Given the description of an element on the screen output the (x, y) to click on. 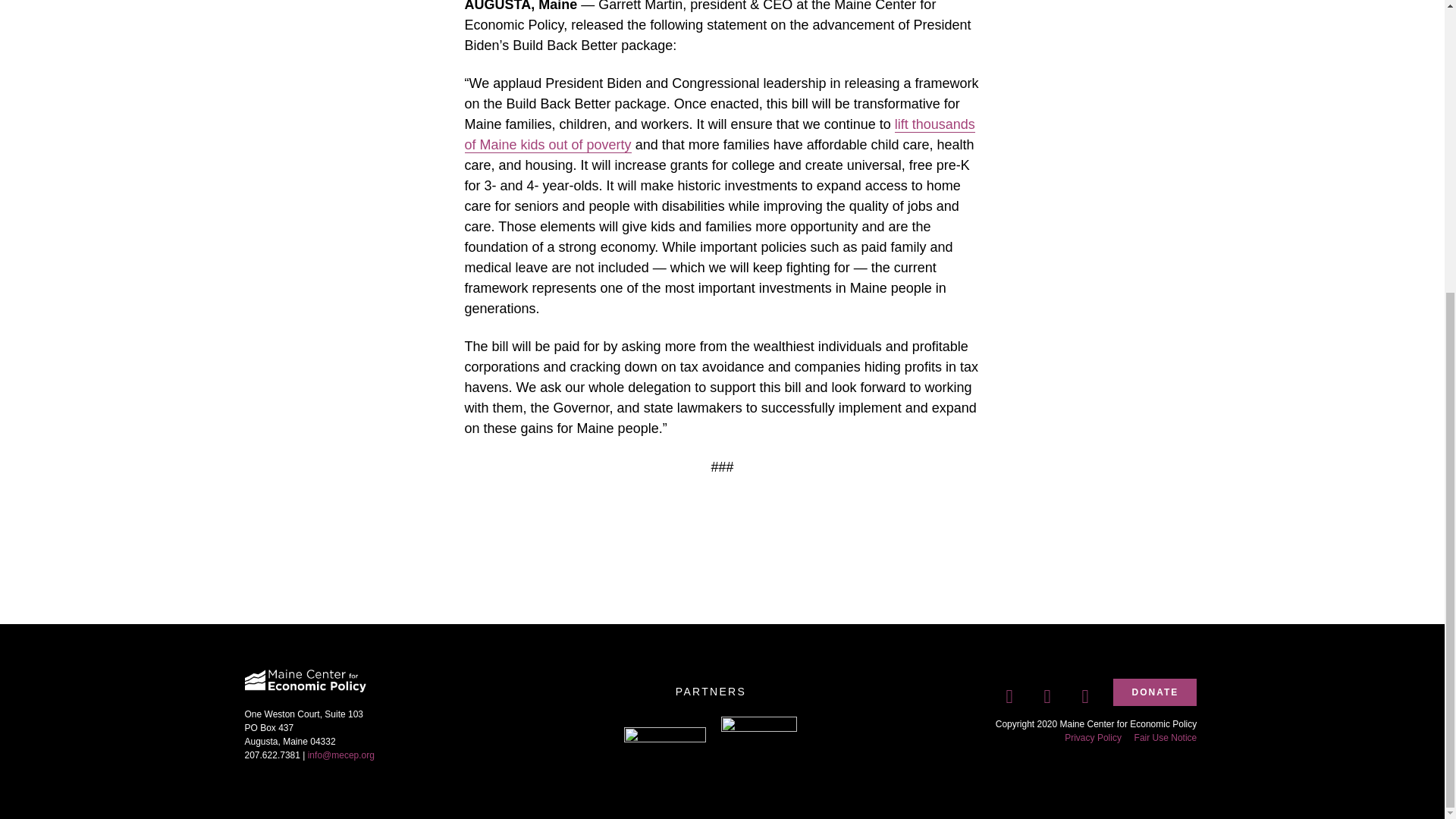
DONATE (1154, 691)
lift thousands of Maine kids out of poverty (719, 135)
Privacy Policy (1092, 737)
